Given the description of an element on the screen output the (x, y) to click on. 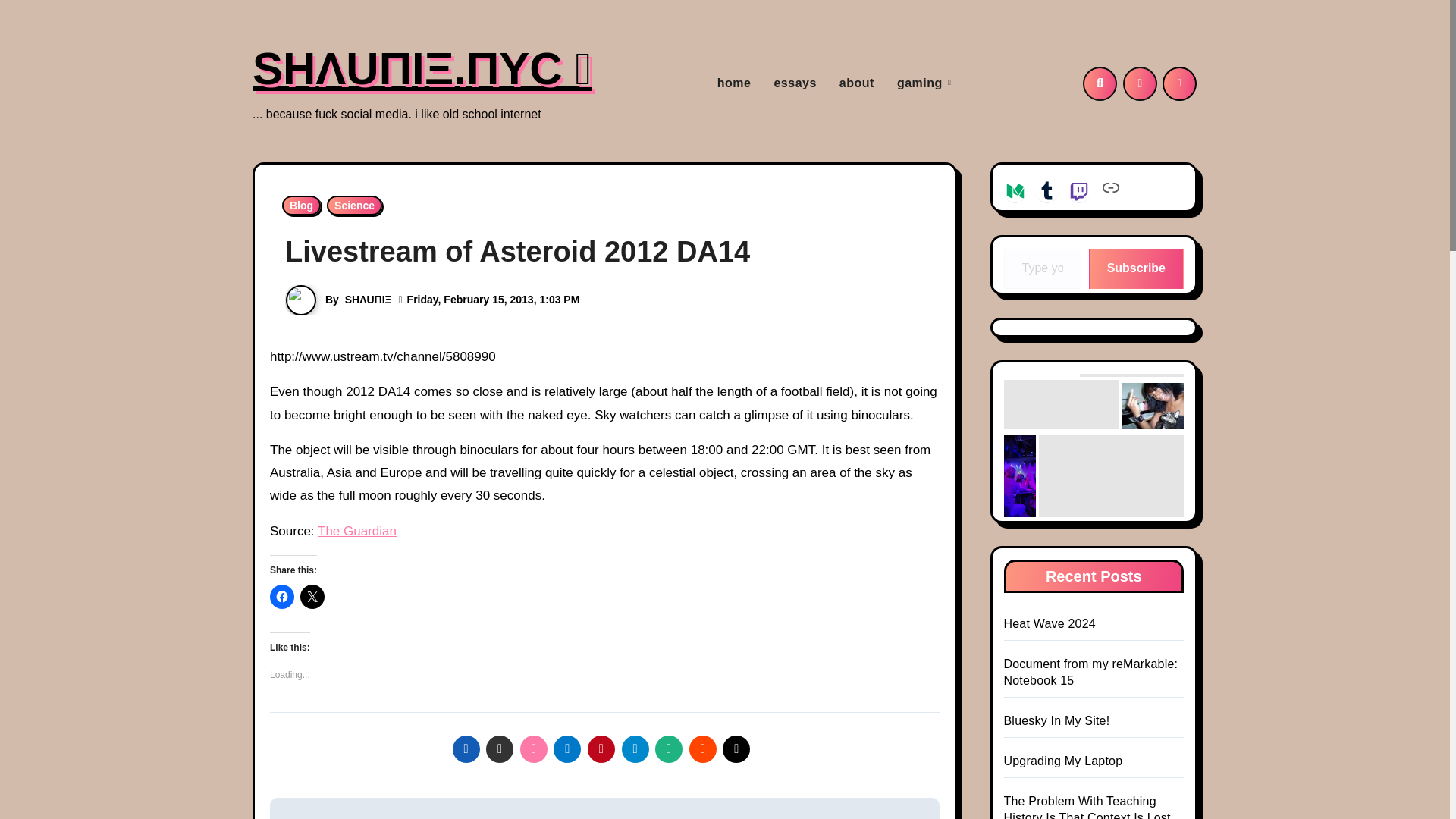
home (734, 83)
Friday, February 15, 2013, 1:03 PM (493, 299)
essays (794, 83)
The Guardian (356, 531)
Science (353, 205)
Blog (301, 205)
Please fill in this field. (1042, 268)
gaming (923, 83)
Click to share on Facebook (281, 596)
Click to share on X (311, 596)
home (734, 83)
gaming (923, 83)
about (856, 83)
essays (794, 83)
about (856, 83)
